Given the description of an element on the screen output the (x, y) to click on. 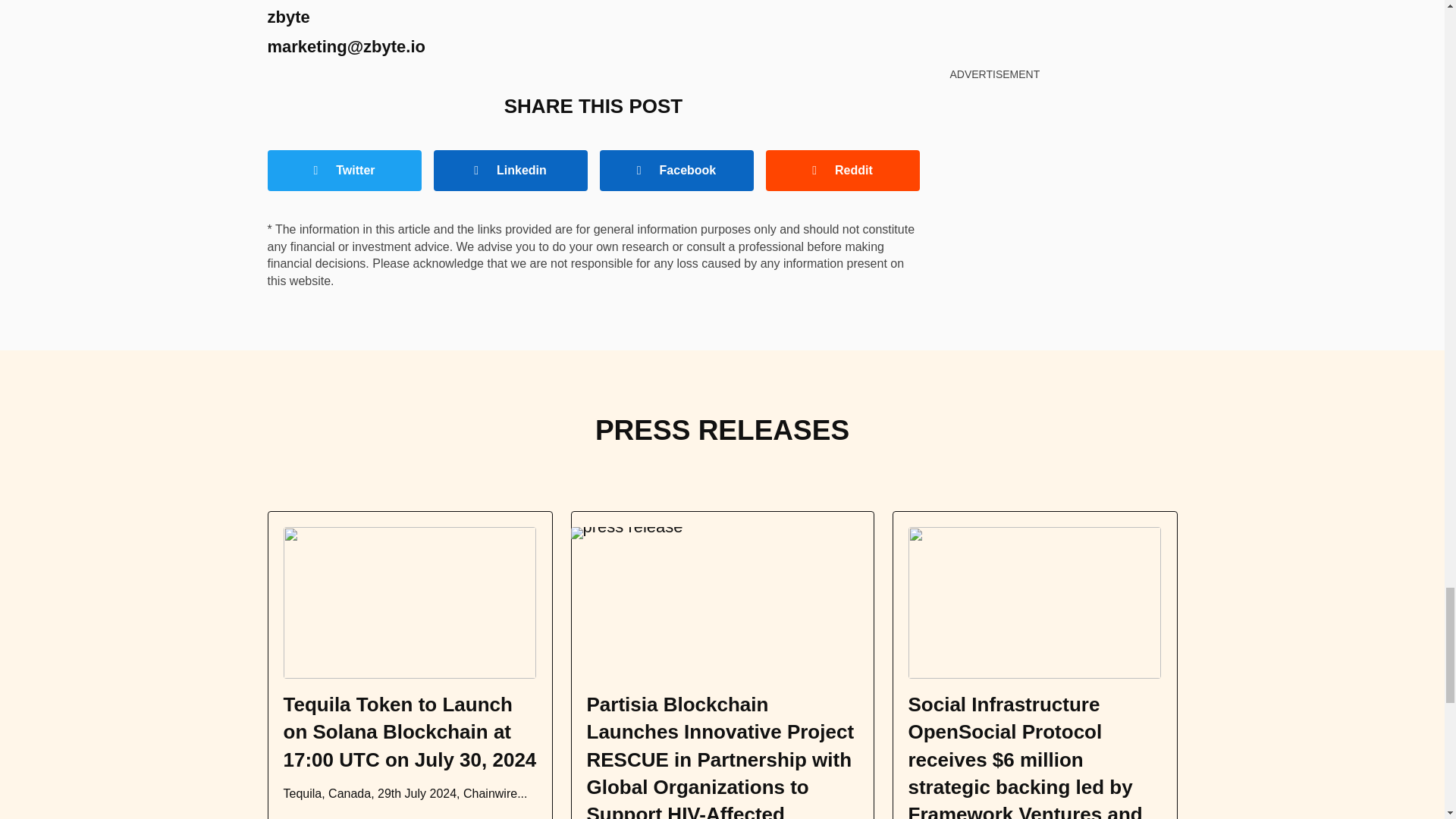
Twitter (343, 169)
Facebook (675, 169)
Linkedin (510, 169)
Reddit (842, 169)
